Given the description of an element on the screen output the (x, y) to click on. 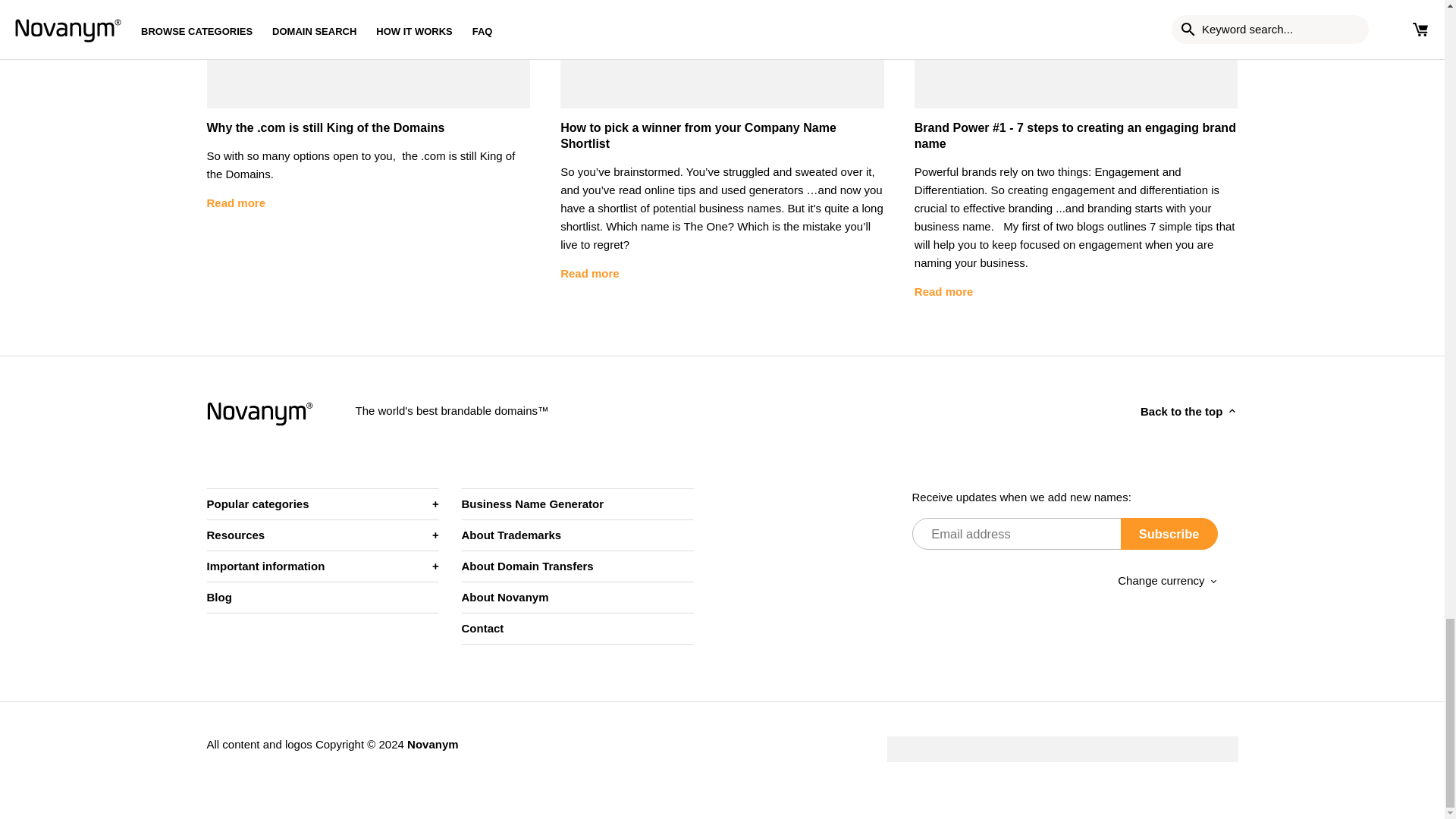
Subscribe (1169, 533)
